Given the description of an element on the screen output the (x, y) to click on. 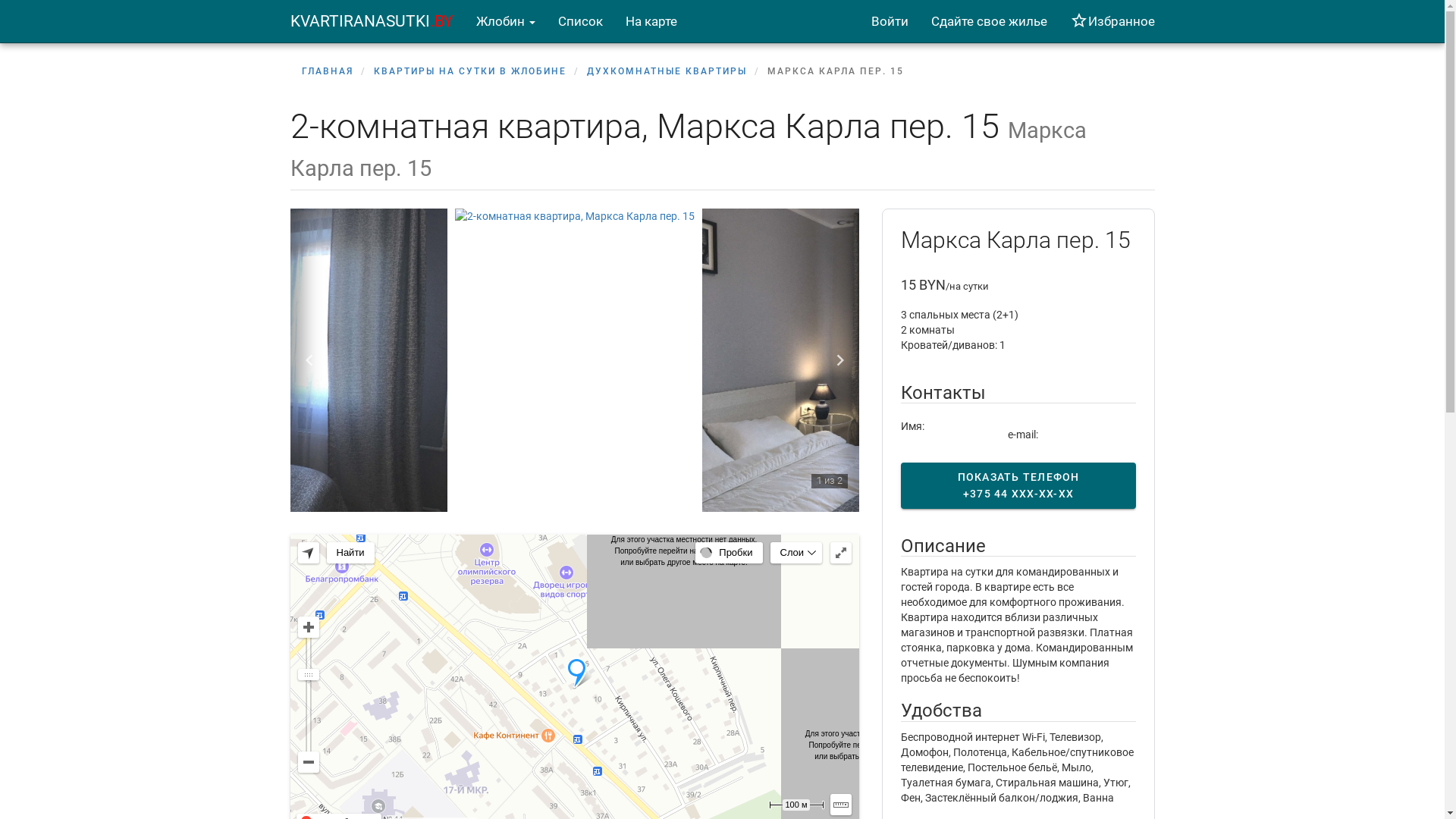
Previous Element type: text (308, 359)
Next Element type: text (839, 359)
KVARTIRANASUTKI.BY Element type: text (371, 21)
